Given the description of an element on the screen output the (x, y) to click on. 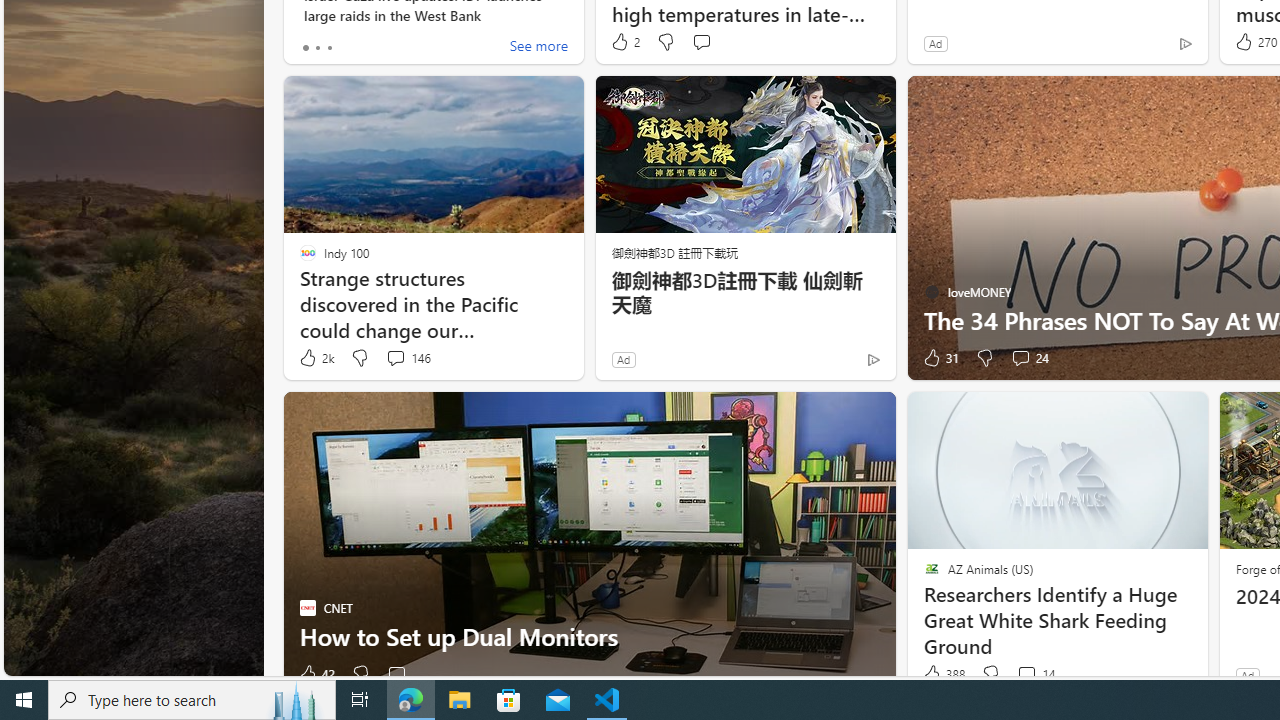
View comments 146 Comment (408, 358)
2k Like (315, 358)
31 Like (939, 358)
View comments 146 Comment (395, 357)
View comments 14 Comment (1026, 673)
View comments 24 Comment (1019, 357)
View comments 24 Comment (1029, 358)
View comments 14 Comment (1035, 674)
42 Like (316, 674)
